Given the description of an element on the screen output the (x, y) to click on. 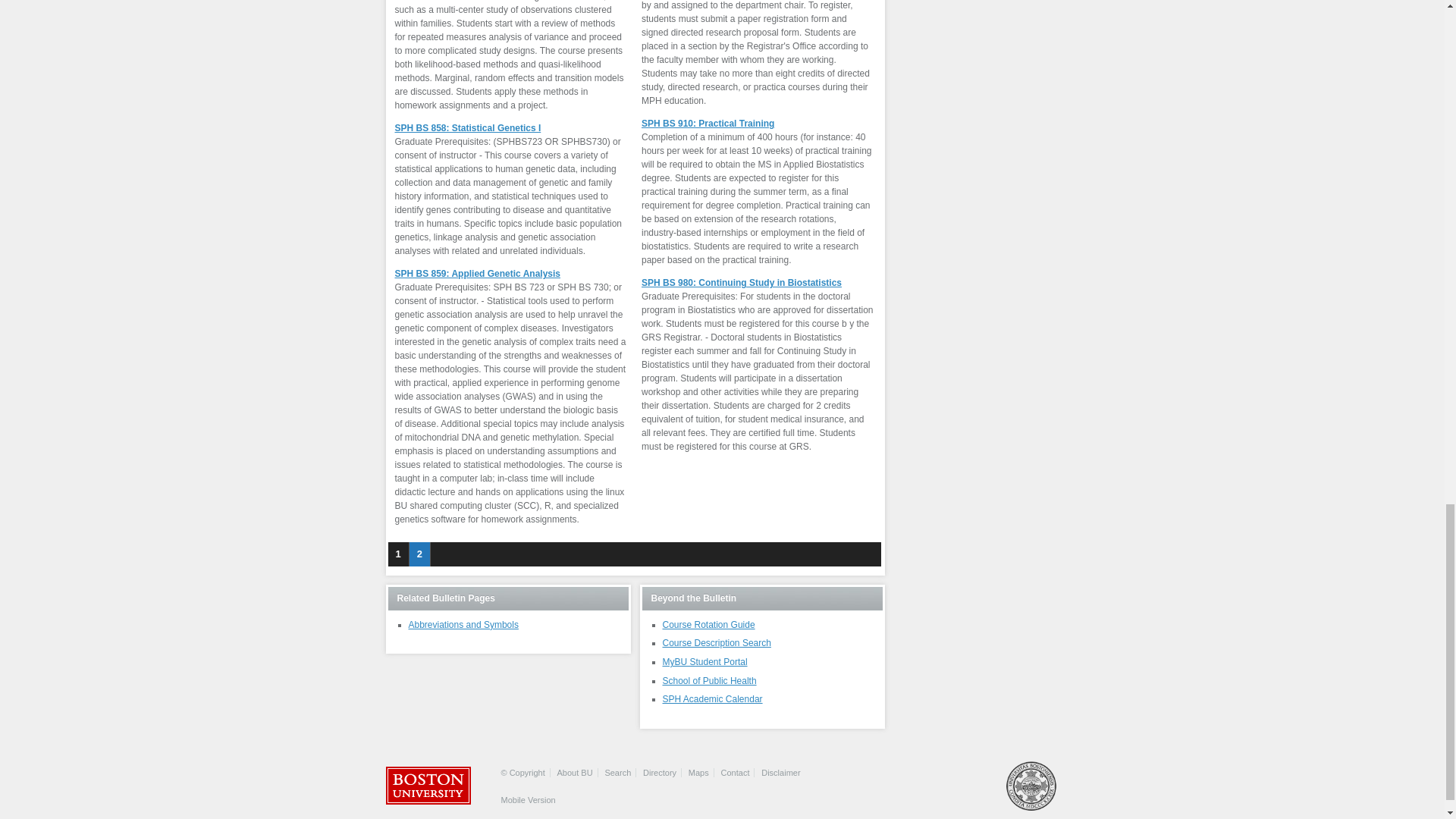
About BU (574, 772)
Copyright (522, 772)
SPH BS 858: Statistical Genetics I (467, 127)
Disclaimer (780, 772)
Maps (698, 772)
Search (617, 772)
Directory (660, 772)
SPH BS 859: Applied Genetic Analysis (477, 273)
Contact (734, 772)
